Given the description of an element on the screen output the (x, y) to click on. 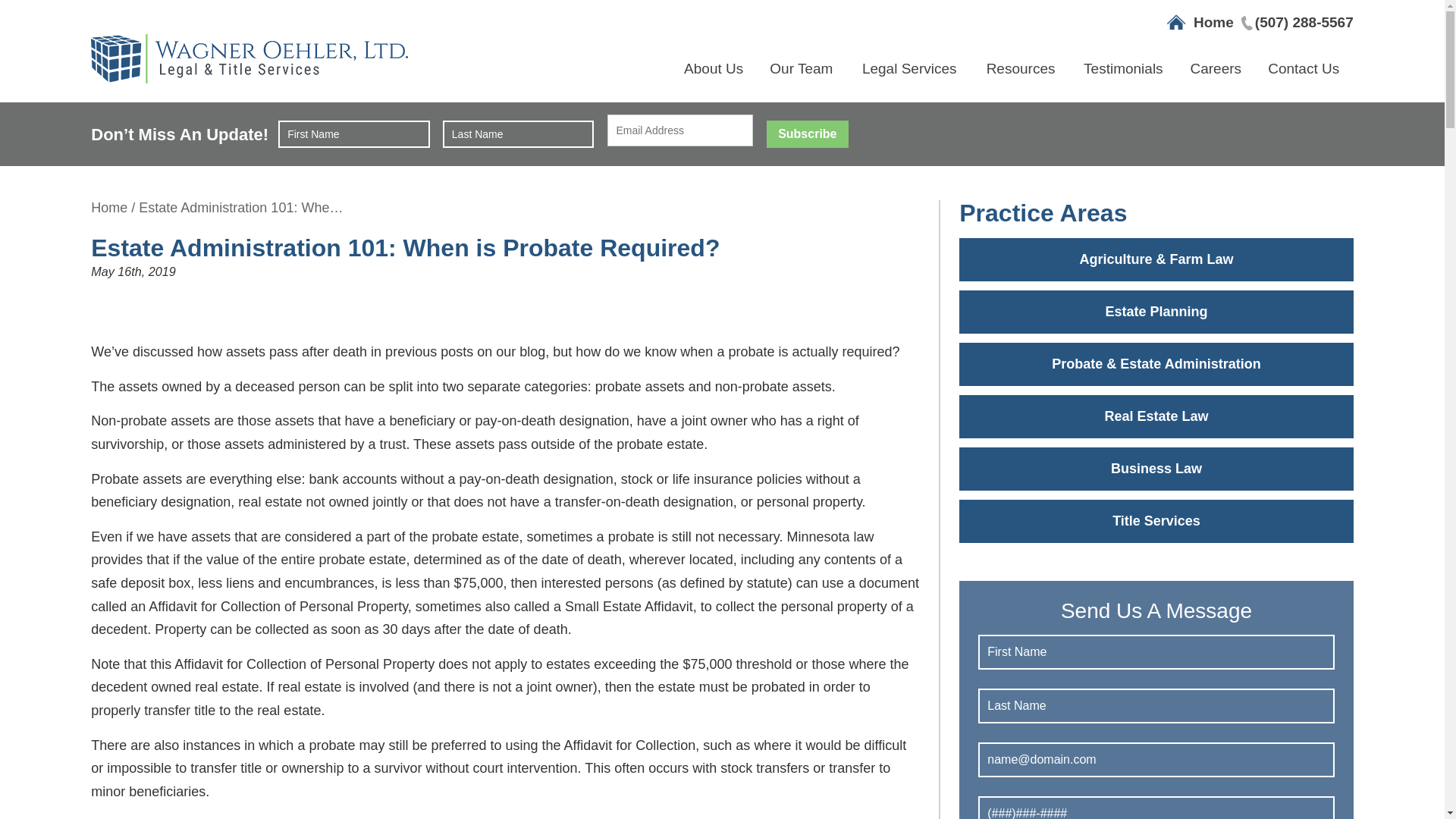
Read more about Real Estate Law (1156, 416)
Read more about Business Law (1156, 468)
Subscribe (807, 134)
Home (1213, 22)
Read more about Estate Planning (1156, 311)
Read more about Title Services (1156, 520)
